Given the description of an element on the screen output the (x, y) to click on. 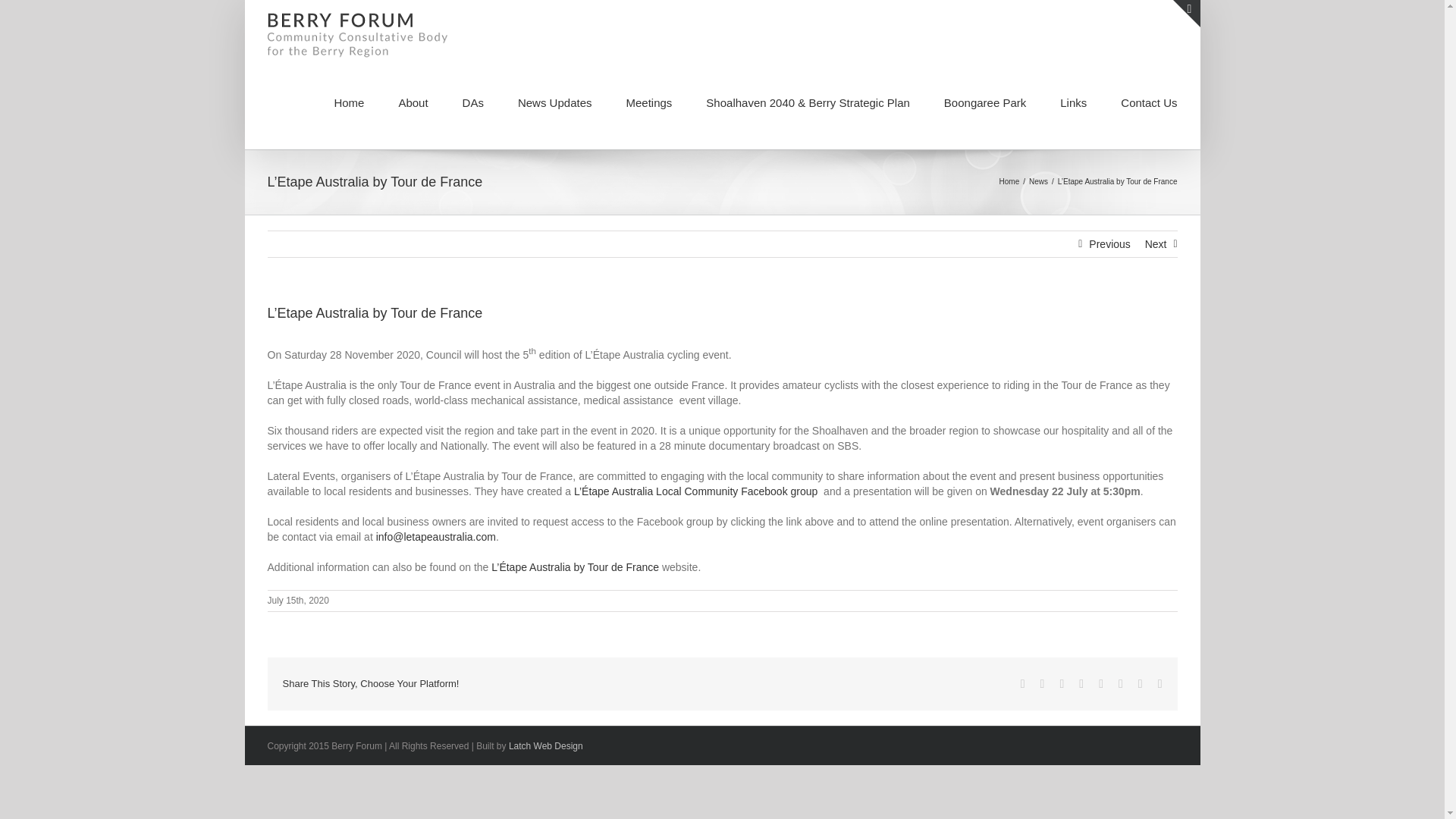
Boongaree Park (984, 101)
Previous (1109, 243)
News (1038, 181)
News Updates (555, 101)
Home (1009, 181)
